Given the description of an element on the screen output the (x, y) to click on. 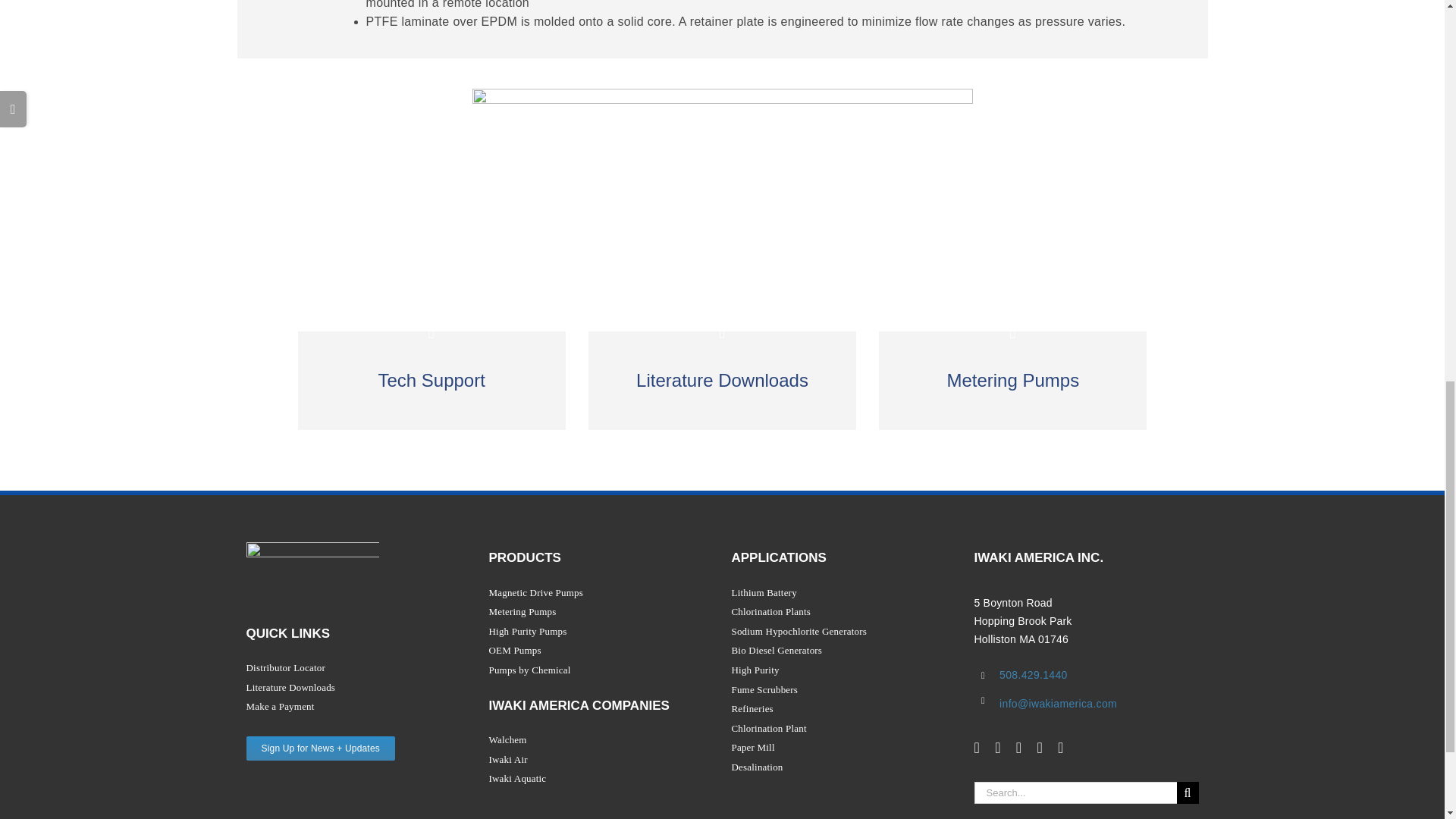
LKN Chart (721, 182)
Iwaki America Logo (312, 567)
